Given the description of an element on the screen output the (x, y) to click on. 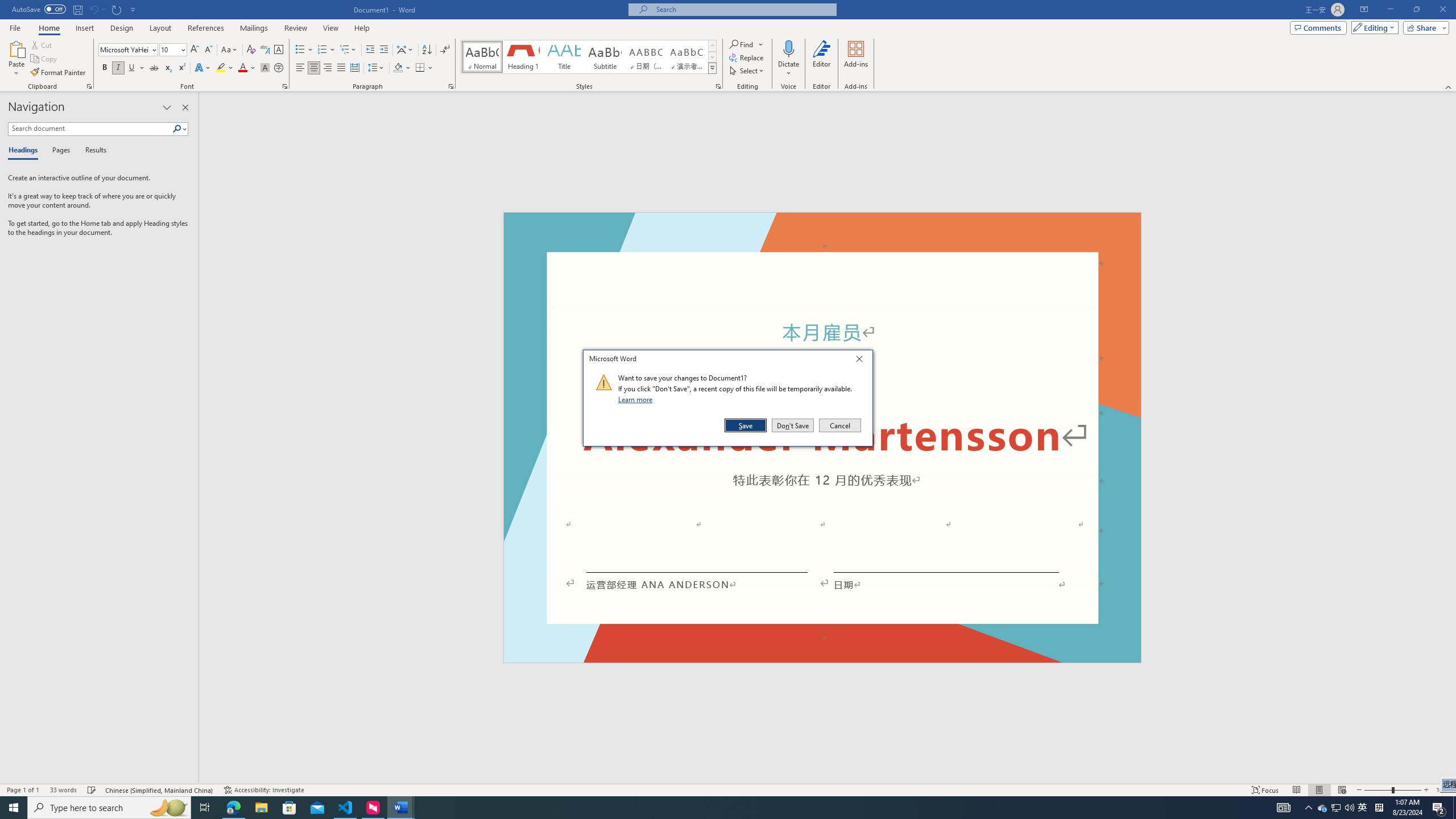
Tray Input Indicator - Chinese (Simplified, China) (1378, 807)
Action Center, 2 new notifications (1362, 807)
Font Color Red (1439, 807)
